Given the description of an element on the screen output the (x, y) to click on. 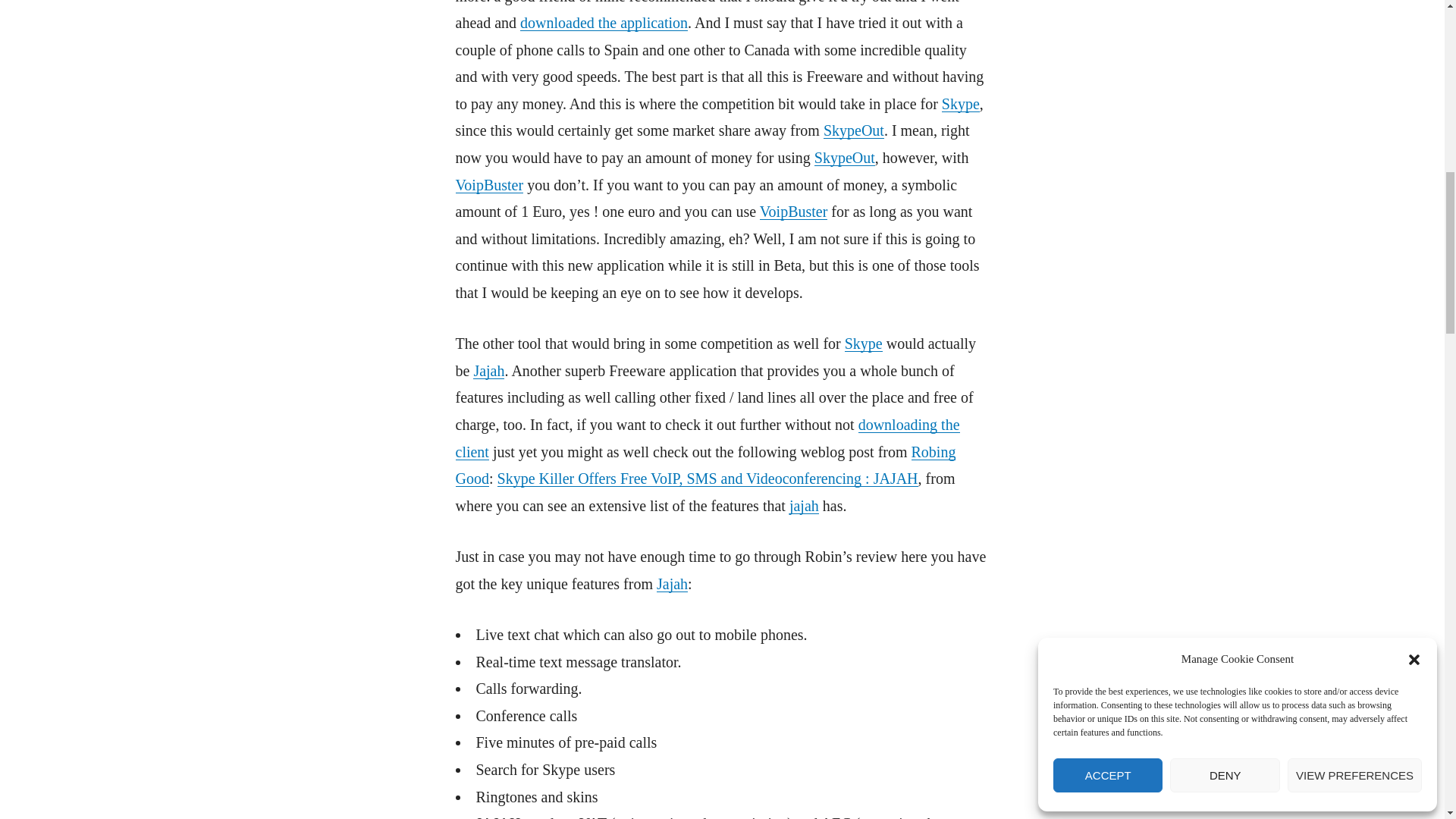
Robing Good (704, 464)
Skype (863, 343)
VoipBuster (794, 211)
SkypeOut (853, 130)
VoipBuster (488, 184)
downloading the client (706, 438)
Jajah (488, 370)
SkypeOut (844, 157)
Skype (960, 103)
downloaded the application (603, 22)
